Given the description of an element on the screen output the (x, y) to click on. 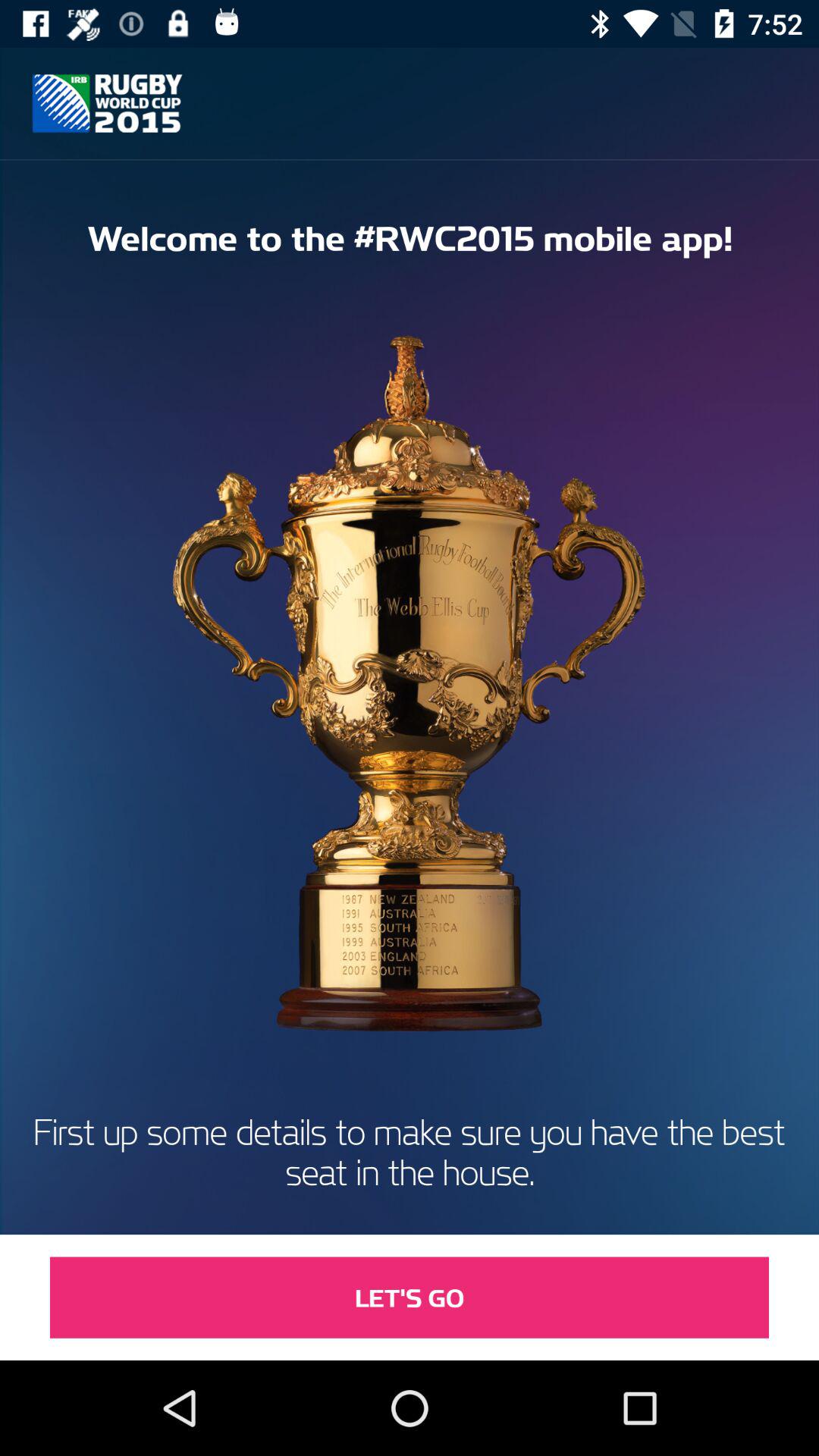
turn off the let's go (409, 1297)
